Given the description of an element on the screen output the (x, y) to click on. 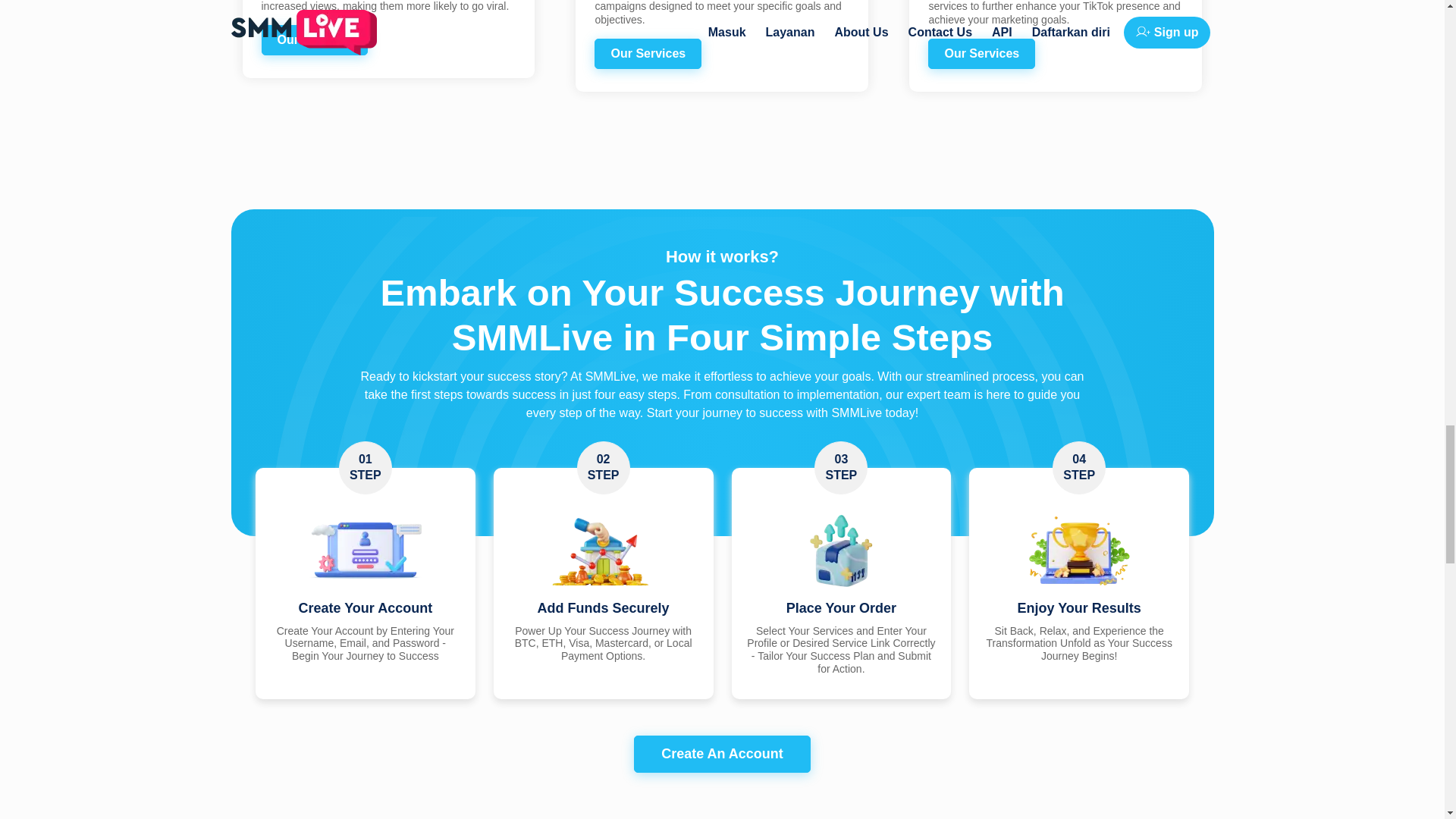
Our Services (314, 40)
Our Services (981, 53)
Create An Account (721, 754)
Our Services (647, 53)
